Given the description of an element on the screen output the (x, y) to click on. 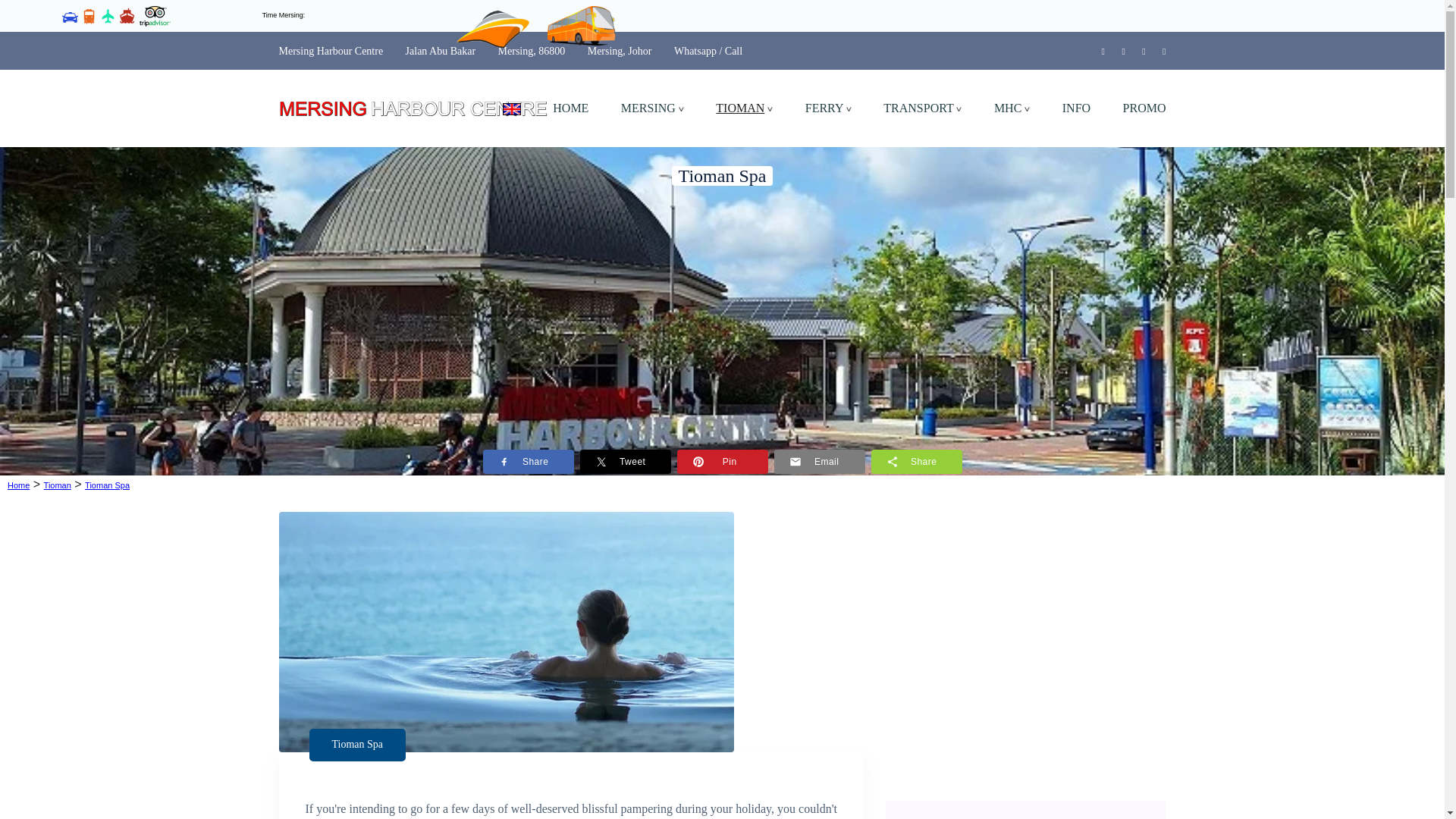
Looking for plane tickets? (108, 14)
Looking for a taxi to Mersing Harbour Centre? (70, 14)
Mersing Harbour Centre (331, 50)
MERSING (652, 108)
Advertisement (1025, 664)
Call (733, 50)
Looking for ferry tickets? (126, 14)
Mersing Harbour Centre on Tripadvisor (154, 14)
TIOMAN (744, 108)
Whatsapp (695, 50)
Looking for the train? (89, 14)
